Given the description of an element on the screen output the (x, y) to click on. 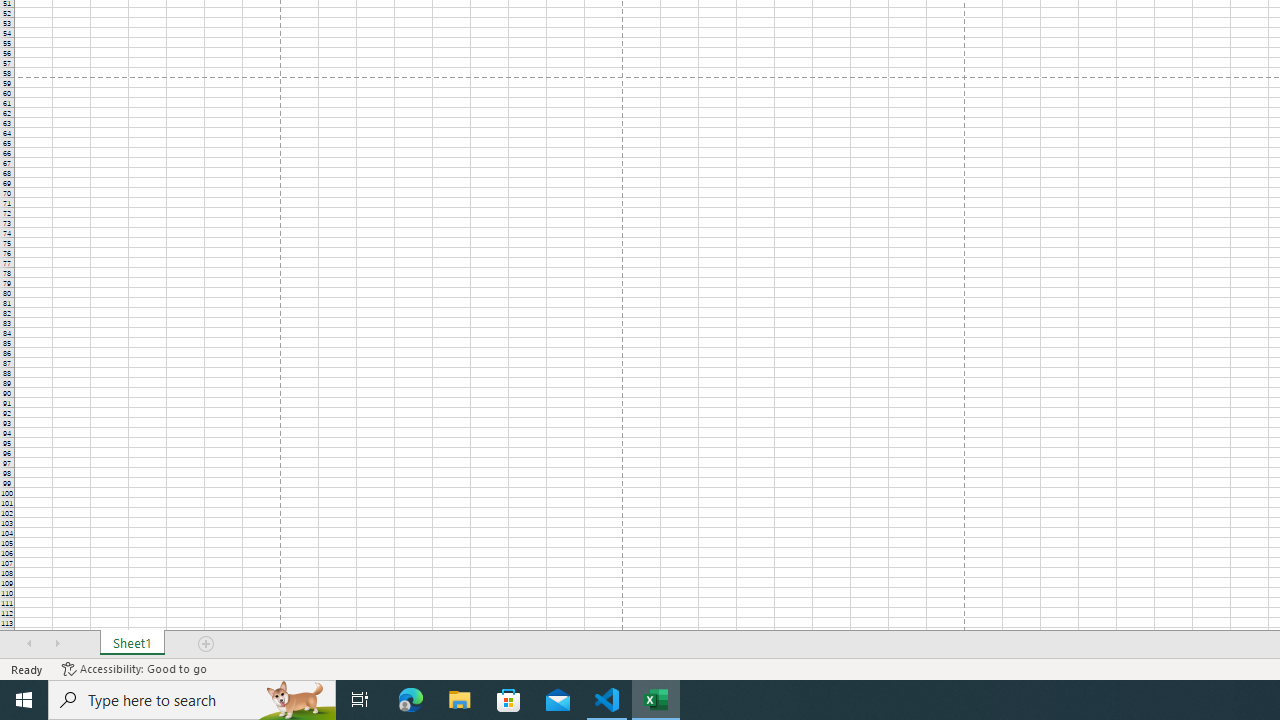
Scroll Left (29, 644)
Scroll Right (57, 644)
Sheet1 (132, 644)
Accessibility Checker Accessibility: Good to go (134, 668)
Add Sheet (207, 644)
